Given the description of an element on the screen output the (x, y) to click on. 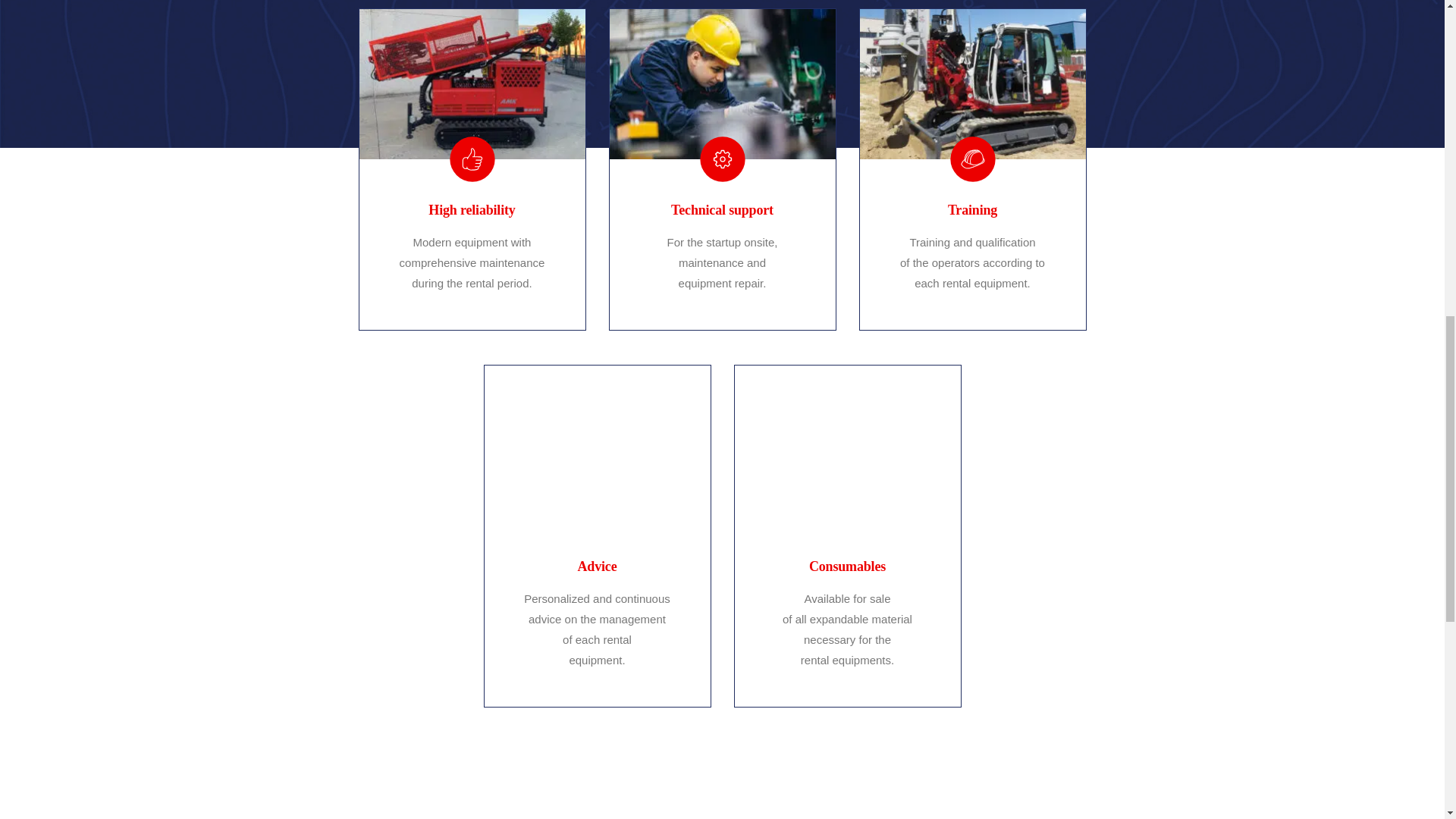
asesoramiento (846, 440)
mantenimiento (472, 83)
formacion (973, 83)
AMK (368, 801)
FRASTE (1074, 801)
fungibles (596, 440)
CLIVIO (604, 801)
soporte (722, 83)
DOOSAN (839, 801)
